Given the description of an element on the screen output the (x, y) to click on. 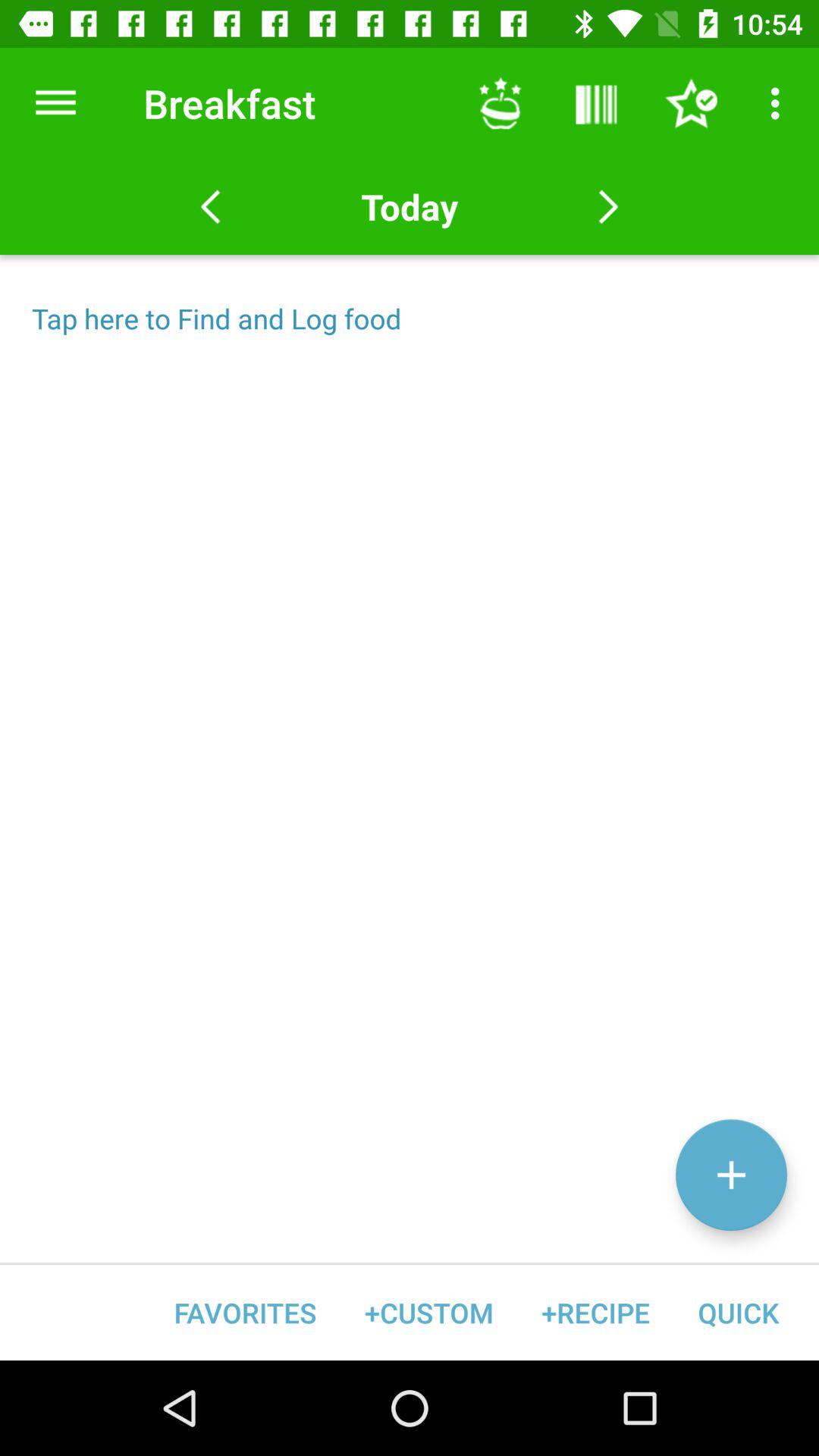
click icon to the left of quick icon (595, 1312)
